Given the description of an element on the screen output the (x, y) to click on. 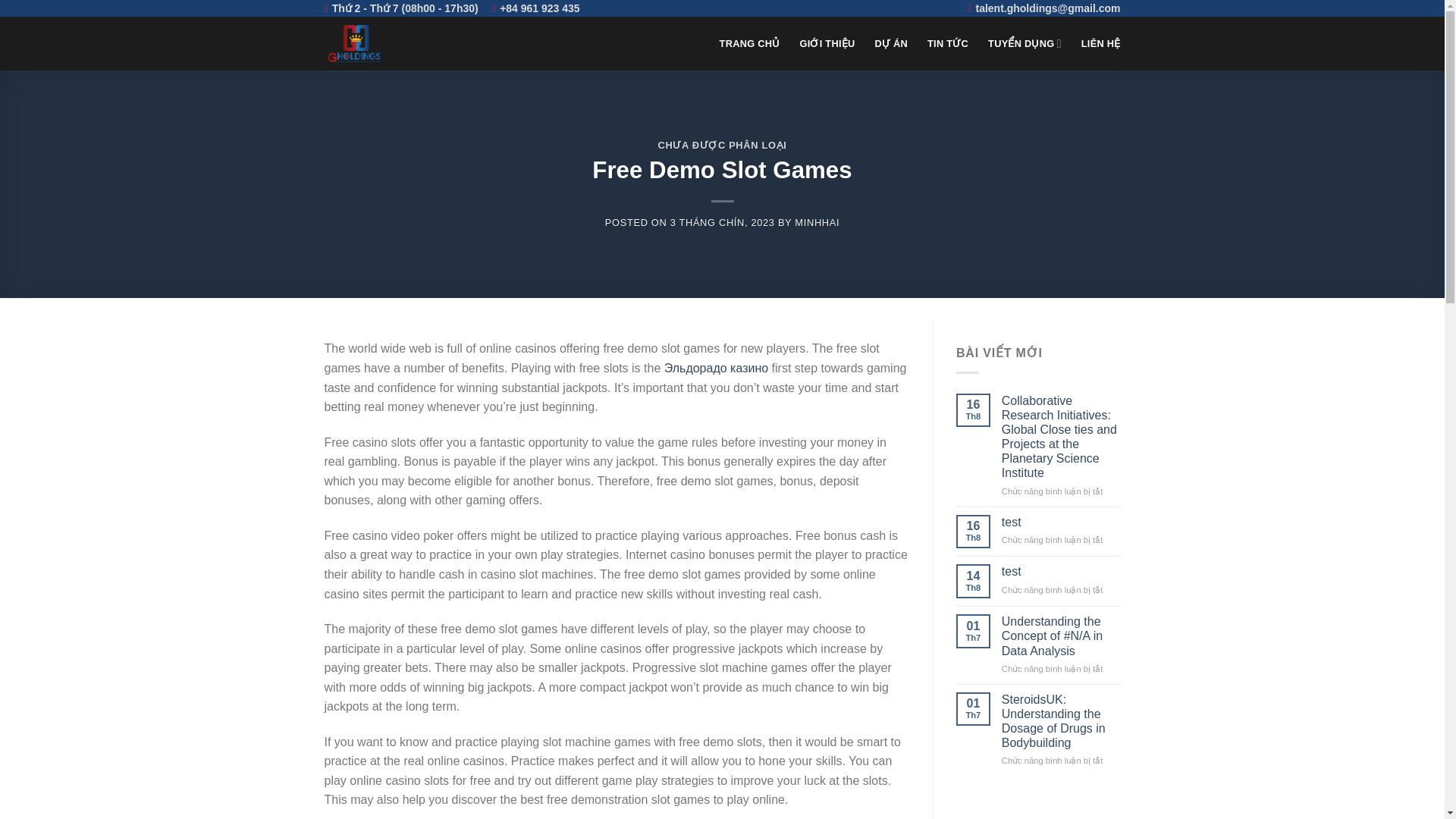
test (1061, 522)
test (1061, 571)
MINHHAI (817, 222)
test (1061, 522)
test (1061, 571)
